Given the description of an element on the screen output the (x, y) to click on. 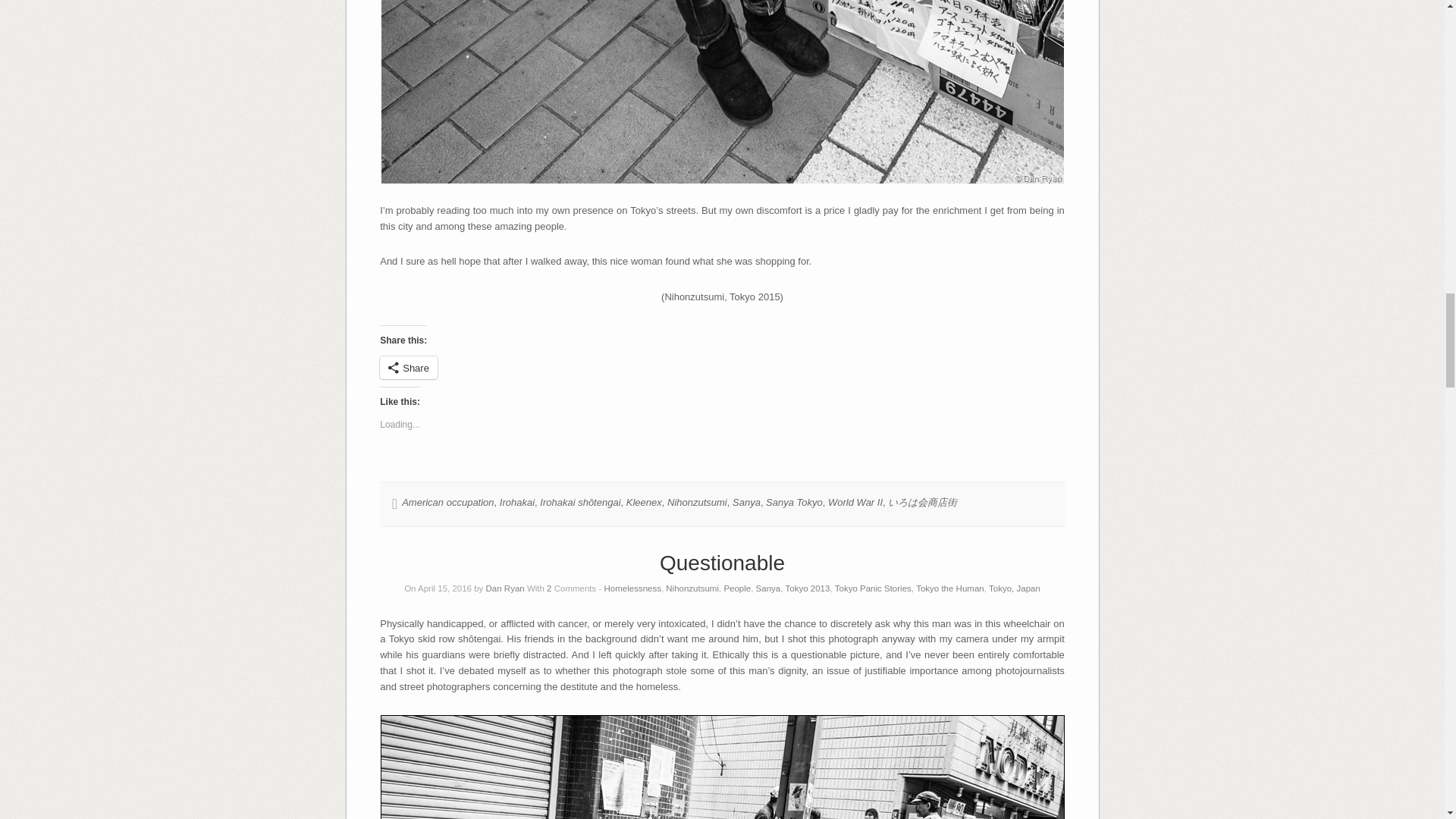
Share (409, 367)
TokyoDay17 076-2 (721, 91)
TokyoDay26raw 115-1 (722, 766)
Kleenex (644, 501)
American occupation (447, 501)
World War II (855, 501)
Sanya Tokyo (793, 501)
Sanya (746, 501)
Irohakai (516, 501)
Nihonzutsumi (696, 501)
